Given the description of an element on the screen output the (x, y) to click on. 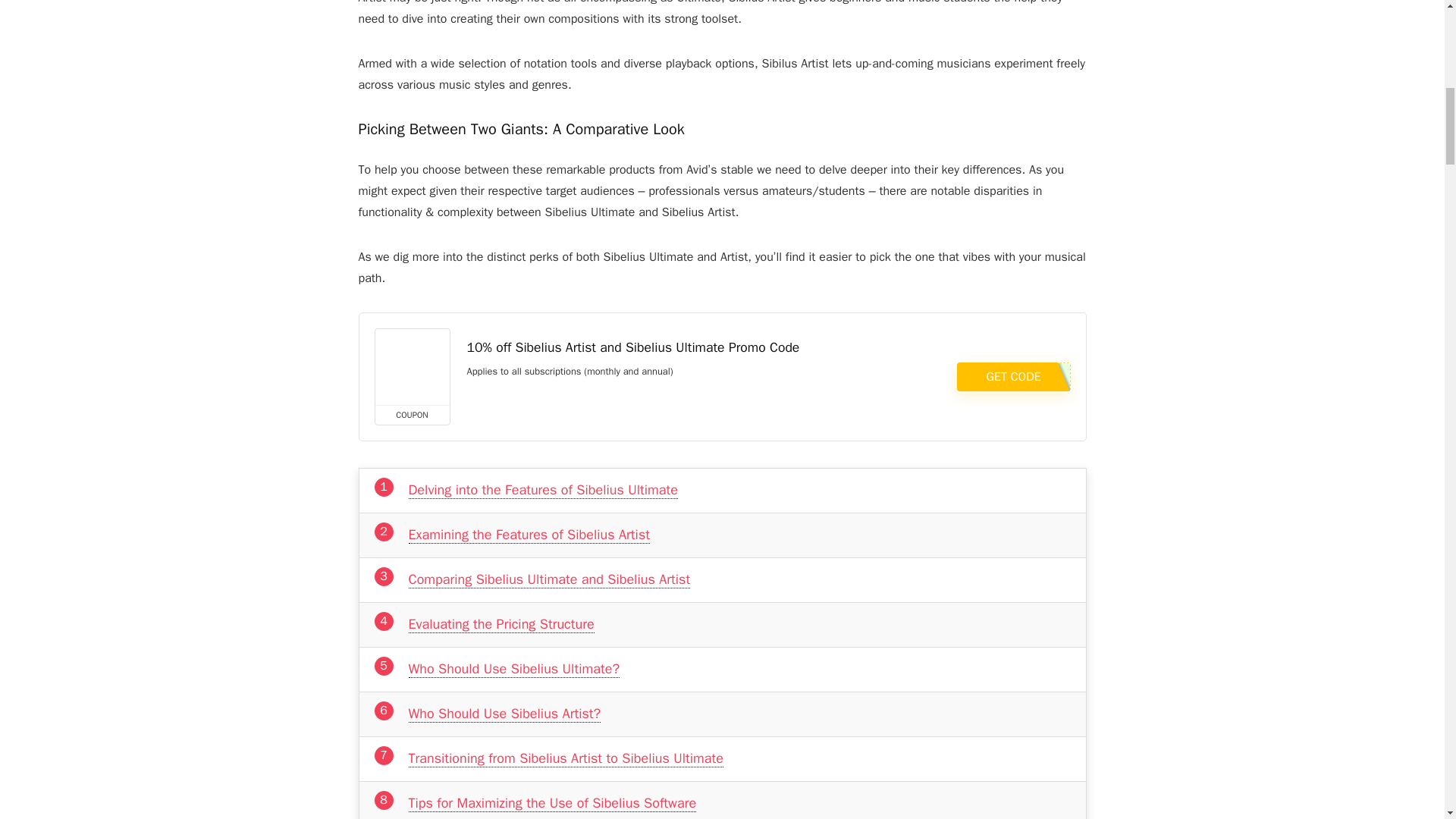
Transitioning from Sibelius Artist to Sibelius Ultimate (565, 758)
Who Should Use Sibelius Ultimate? (513, 669)
Tips for Maximizing the Use of Sibelius Software (551, 803)
Comparing Sibelius Ultimate and Sibelius Artist (548, 579)
Delving into the Features of Sibelius Ultimate (542, 489)
Who Should Use Sibelius Artist? (503, 713)
Evaluating the Pricing Structure (500, 624)
Examining the Features of Sibelius Artist (528, 534)
